Given the description of an element on the screen output the (x, y) to click on. 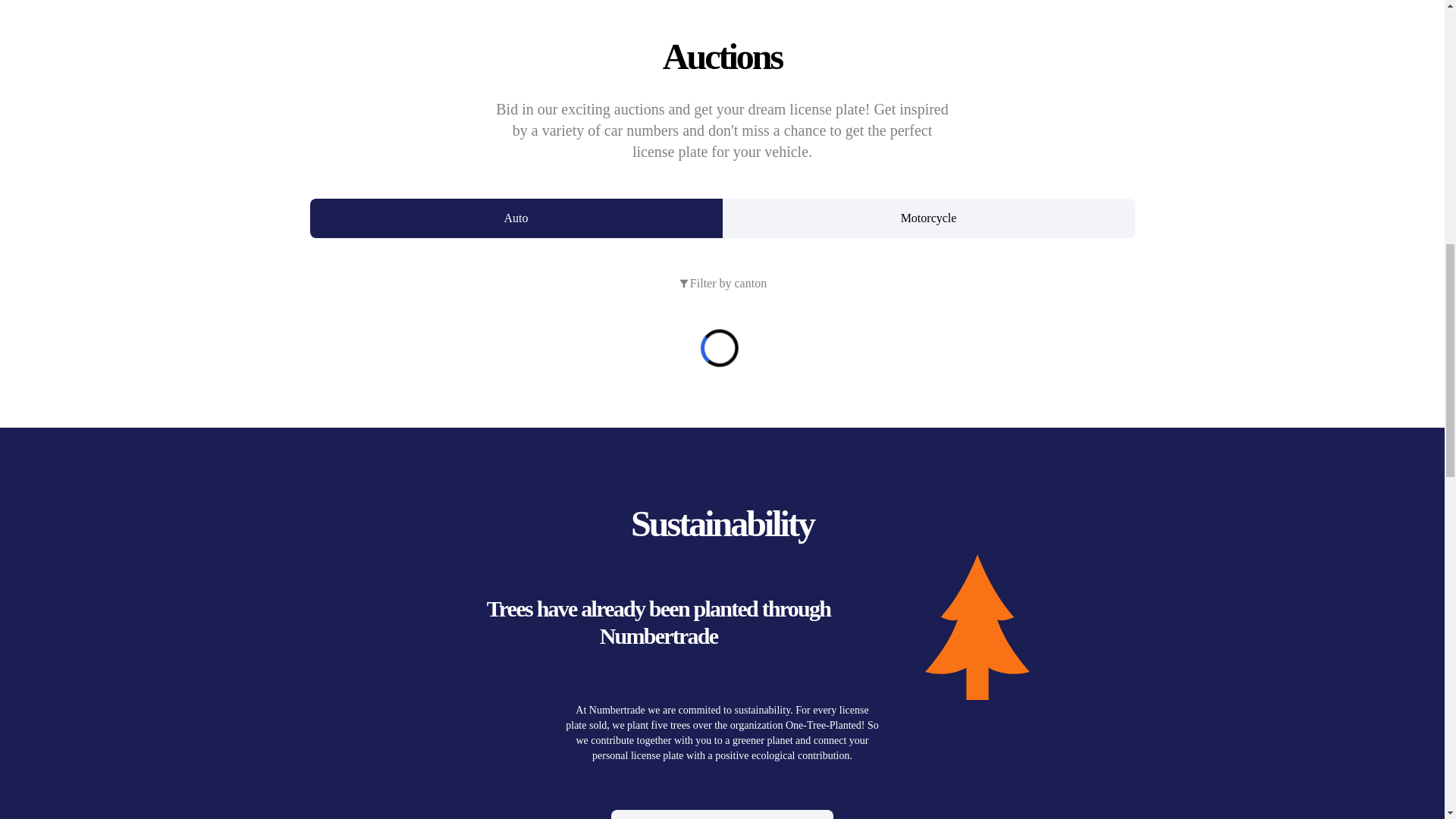
Sell License Plate (721, 814)
